Given the description of an element on the screen output the (x, y) to click on. 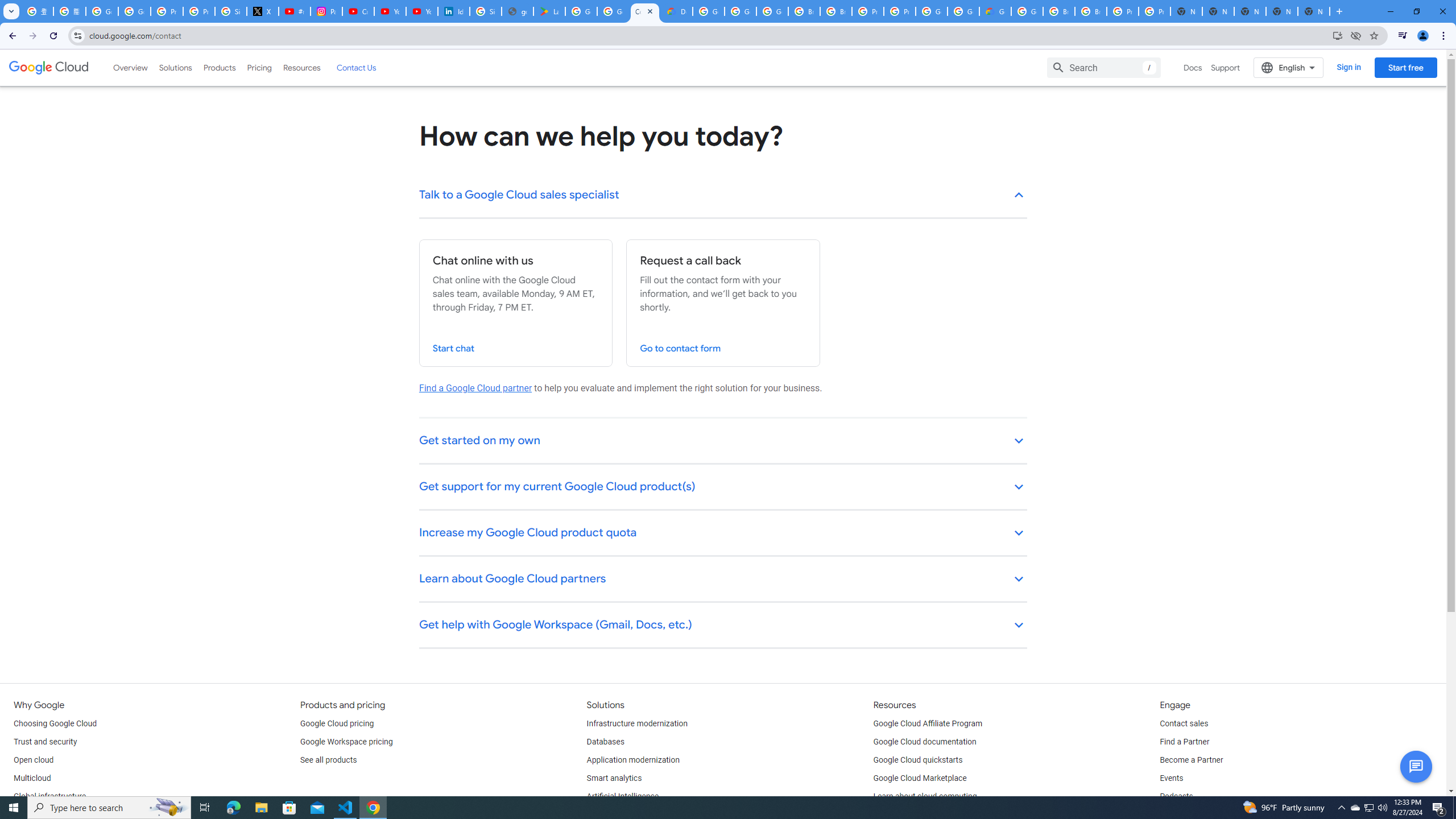
#nbabasketballhighlights - YouTube (294, 11)
Browse Chrome as a guest - Computer - Google Chrome Help (1091, 11)
Increase my Google Cloud product quota keyboard_arrow_down (723, 533)
Sign in - Google Accounts (230, 11)
Get started on my own keyboard_arrow_down (723, 441)
Google Cloud Estimate Summary (995, 11)
Docs (1192, 67)
Resources (301, 67)
Podcasts (1175, 796)
